Given the description of an element on the screen output the (x, y) to click on. 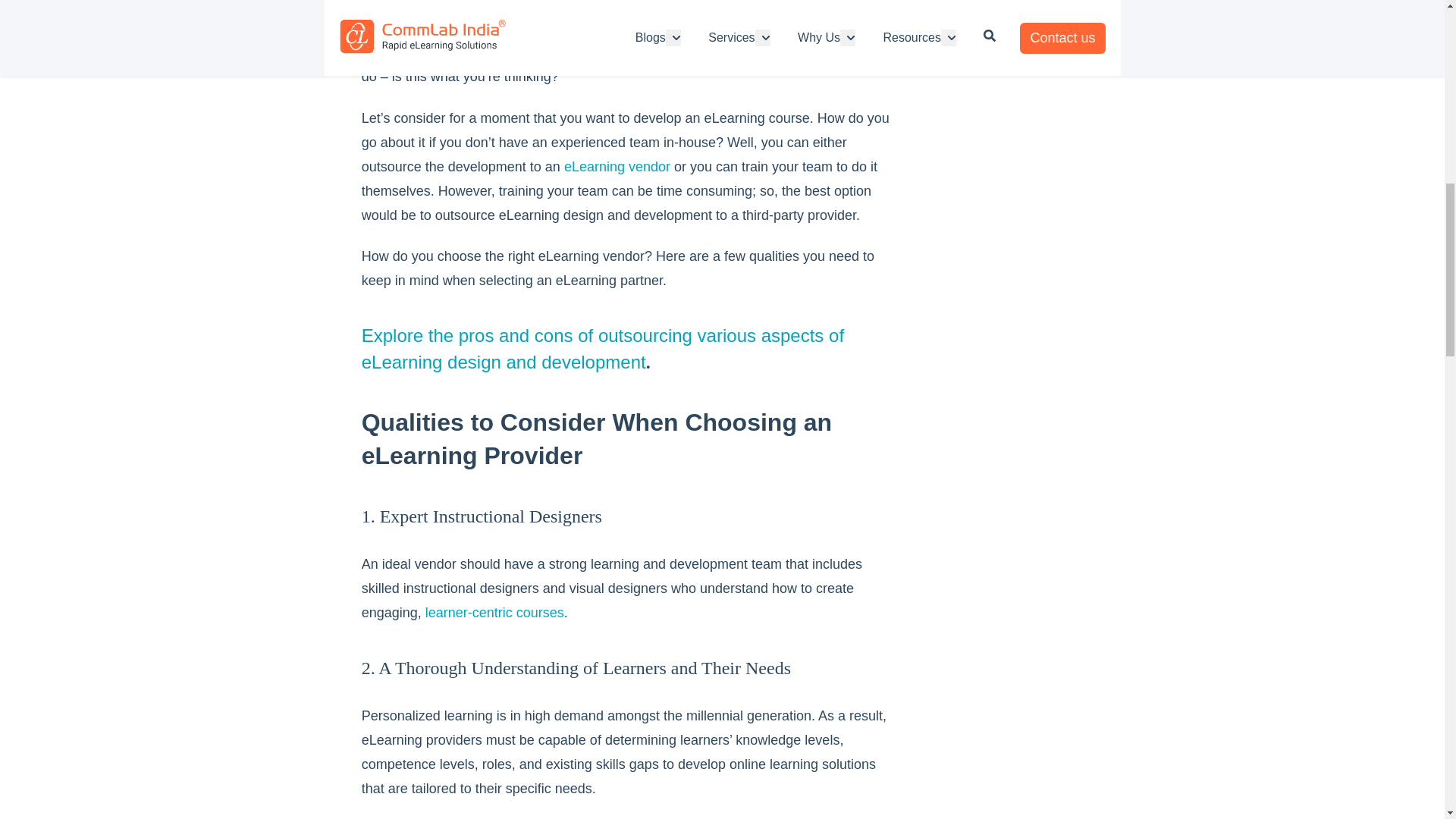
Top 6 Tips to Create Learner-centric Course (494, 612)
Vendor Vetting Tips (616, 166)
